Given the description of an element on the screen output the (x, y) to click on. 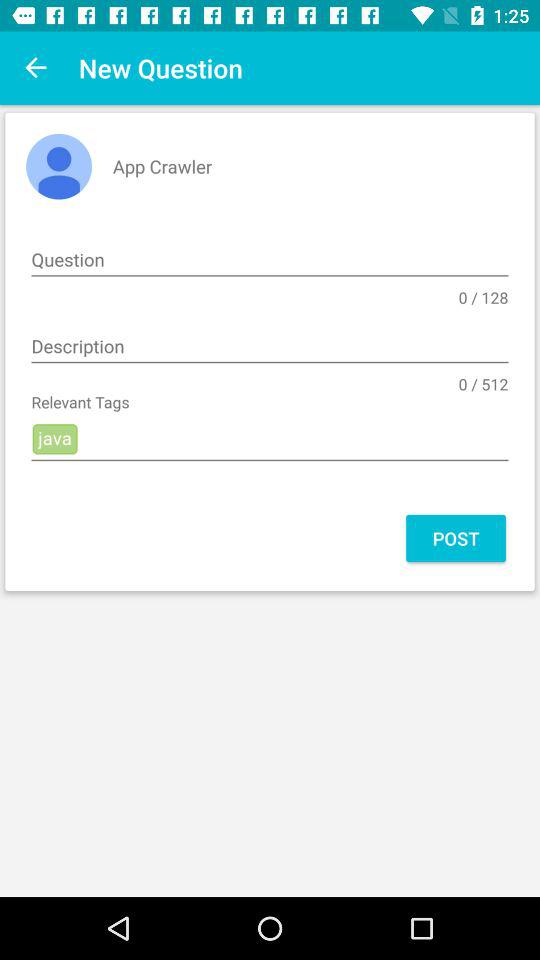
press item to the left of the new question item (36, 68)
